Given the description of an element on the screen output the (x, y) to click on. 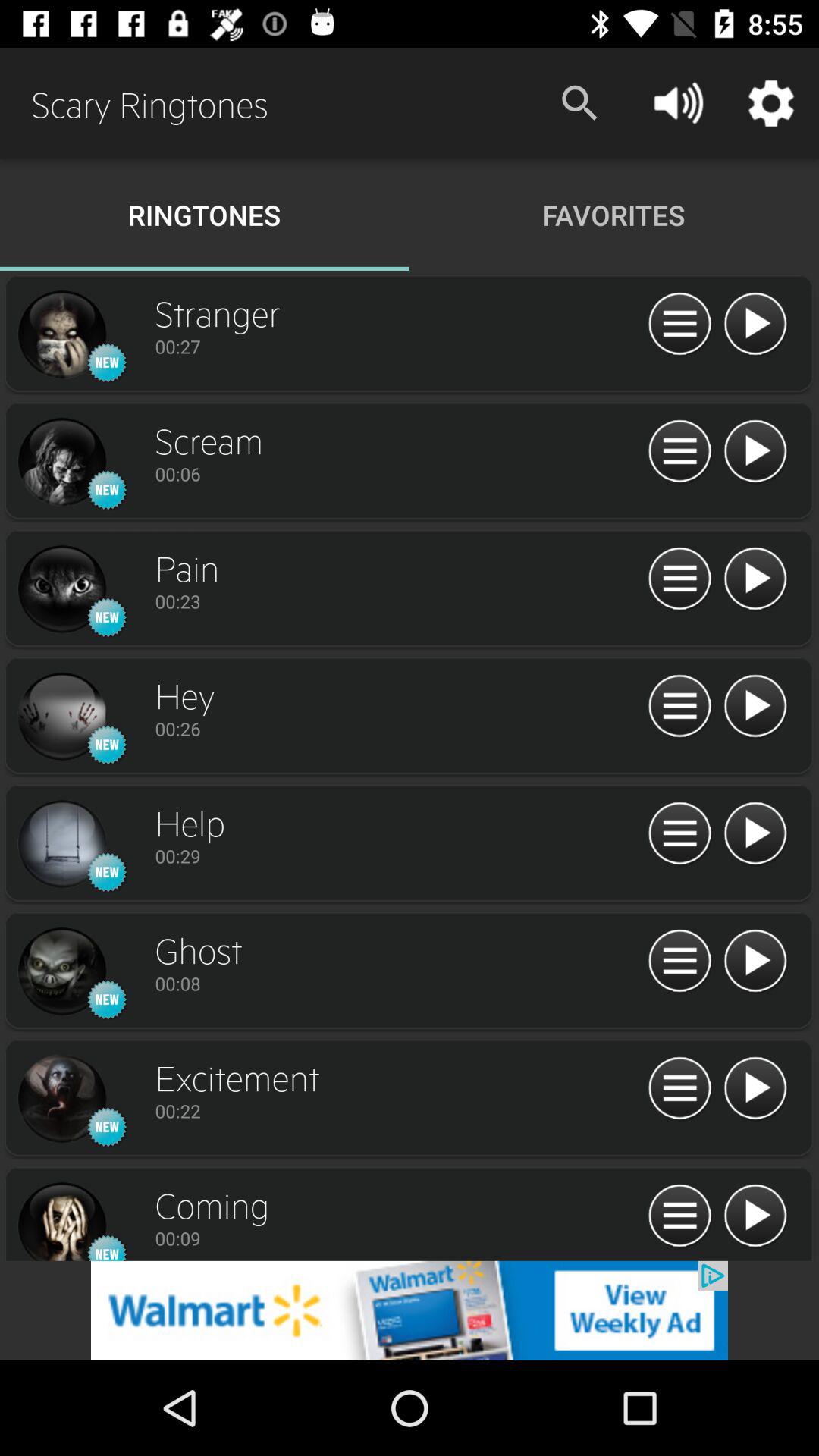
go to play (755, 324)
